Given the description of an element on the screen output the (x, y) to click on. 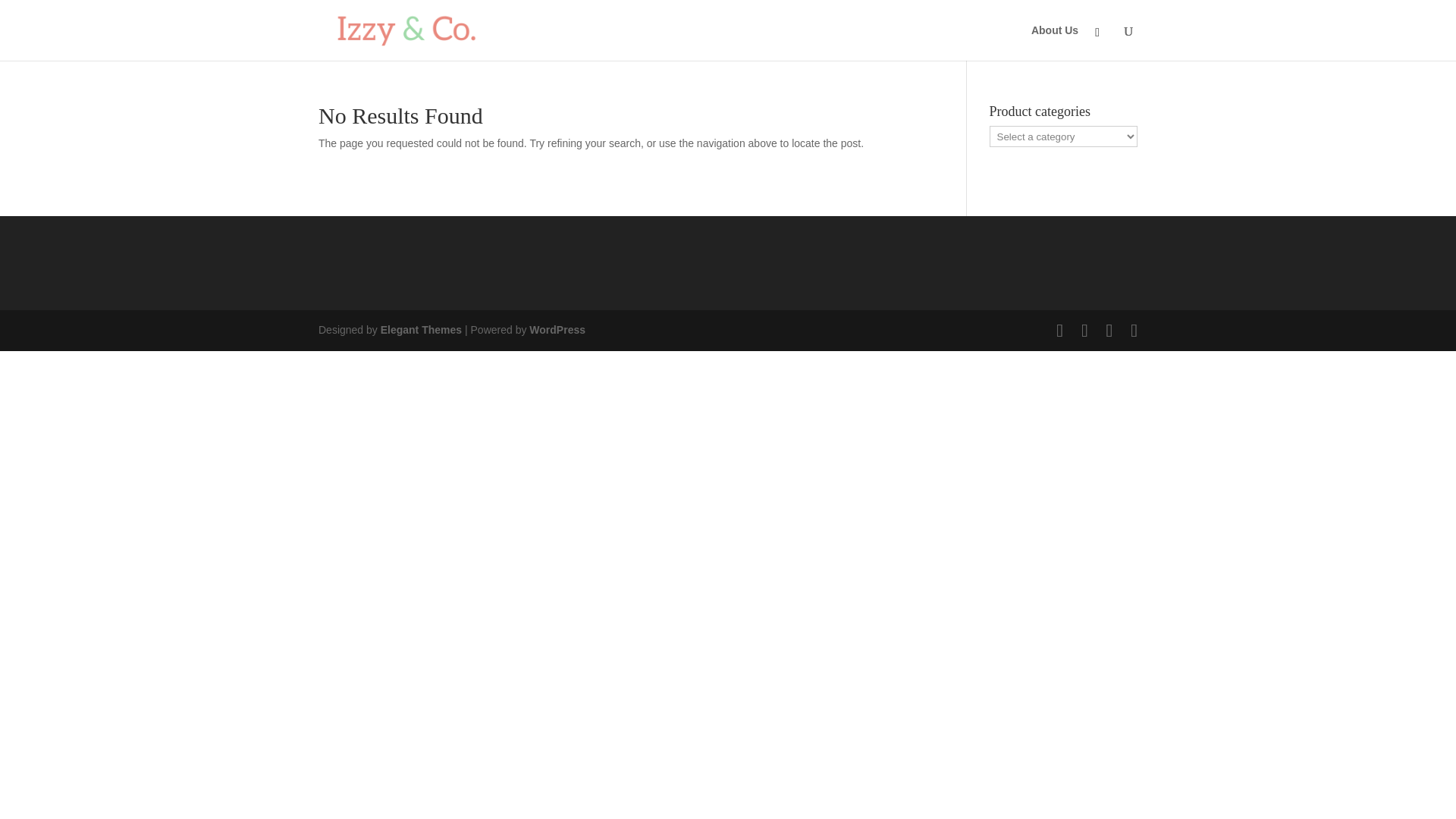
Elegant Themes (420, 329)
WordPress (557, 329)
Premium WordPress Themes (420, 329)
About Us (1054, 42)
